Given the description of an element on the screen output the (x, y) to click on. 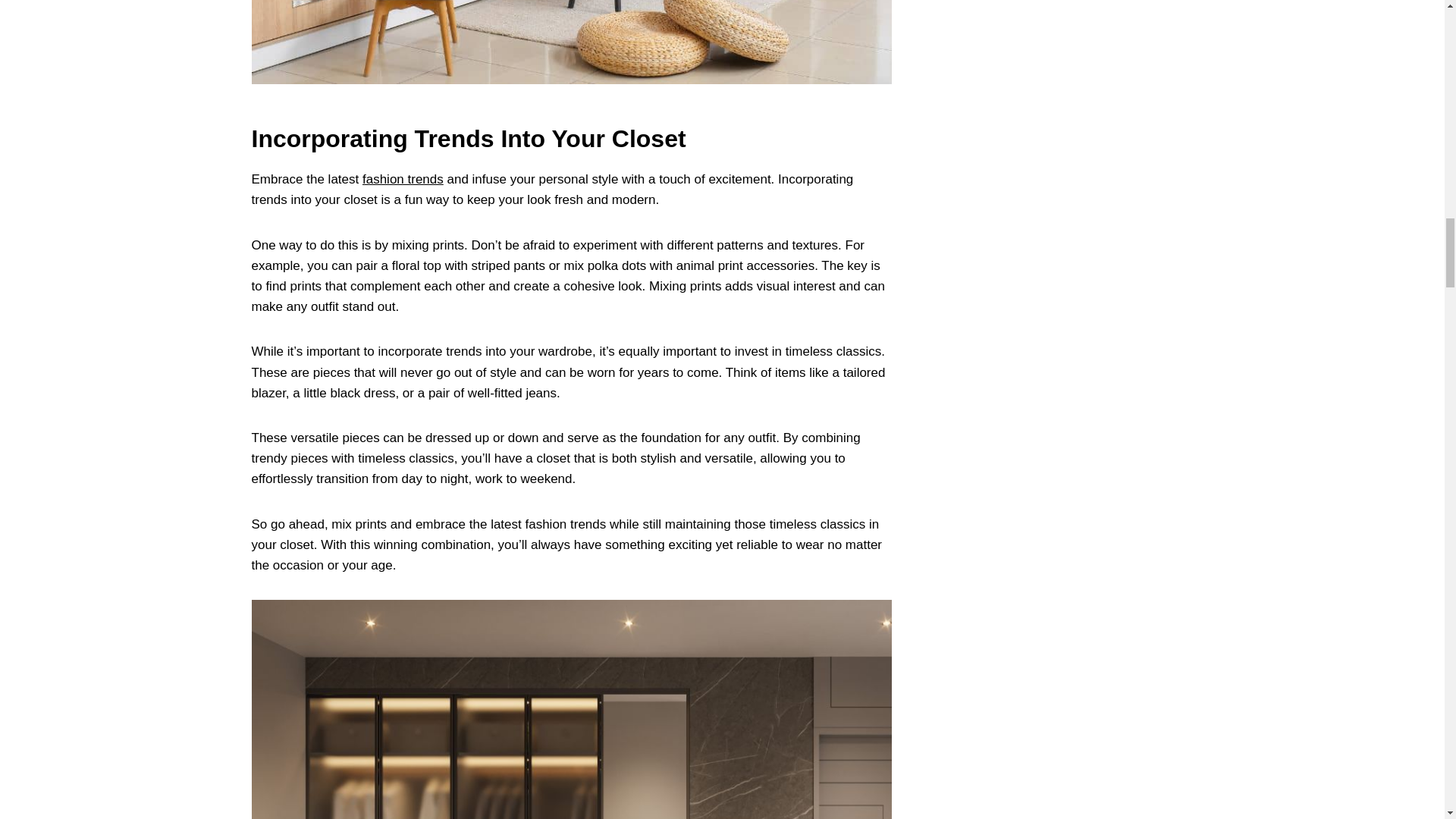
fashion trends (403, 178)
